Given the description of an element on the screen output the (x, y) to click on. 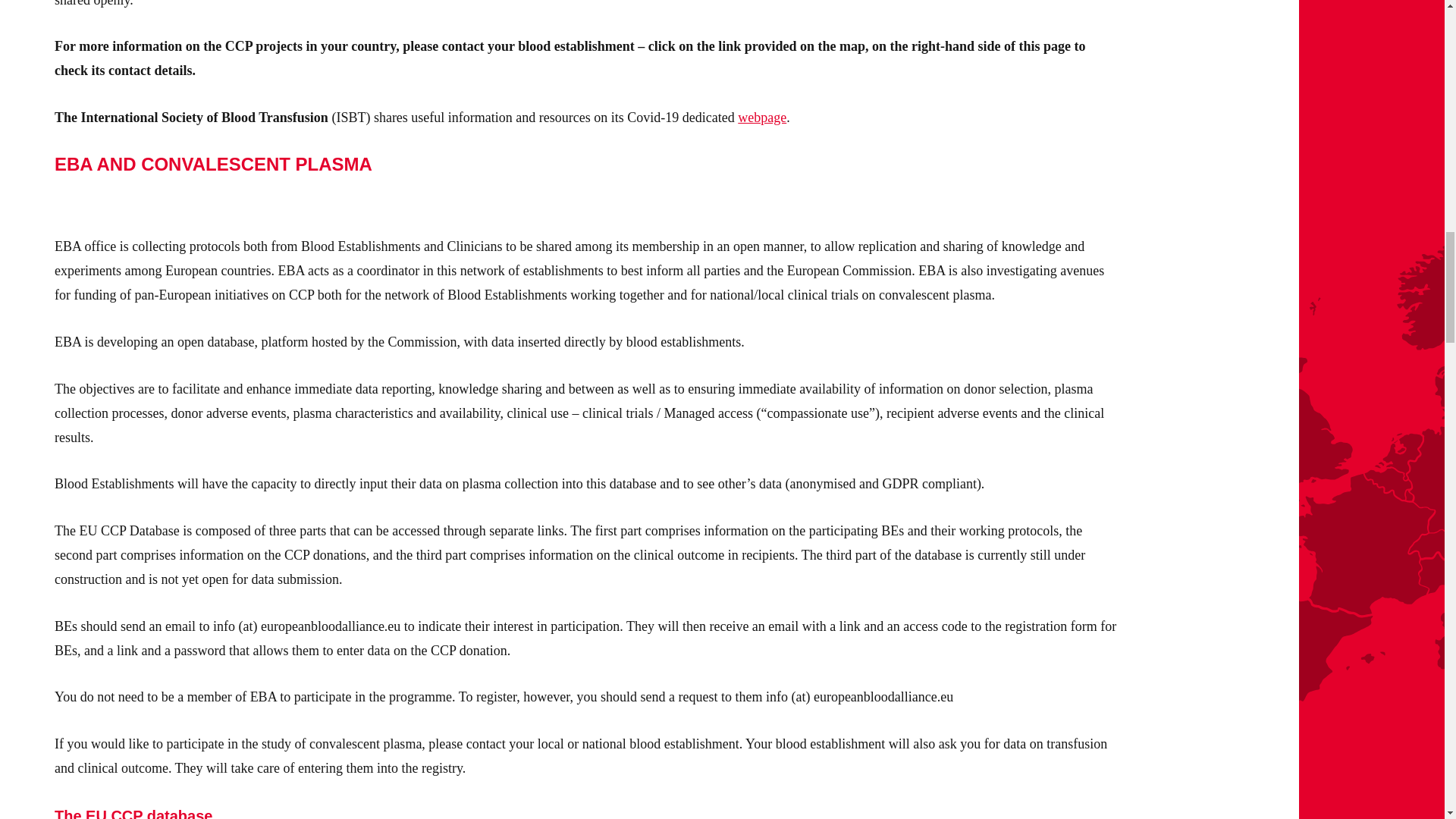
webpage (762, 117)
The EU CCP database (133, 813)
